Given the description of an element on the screen output the (x, y) to click on. 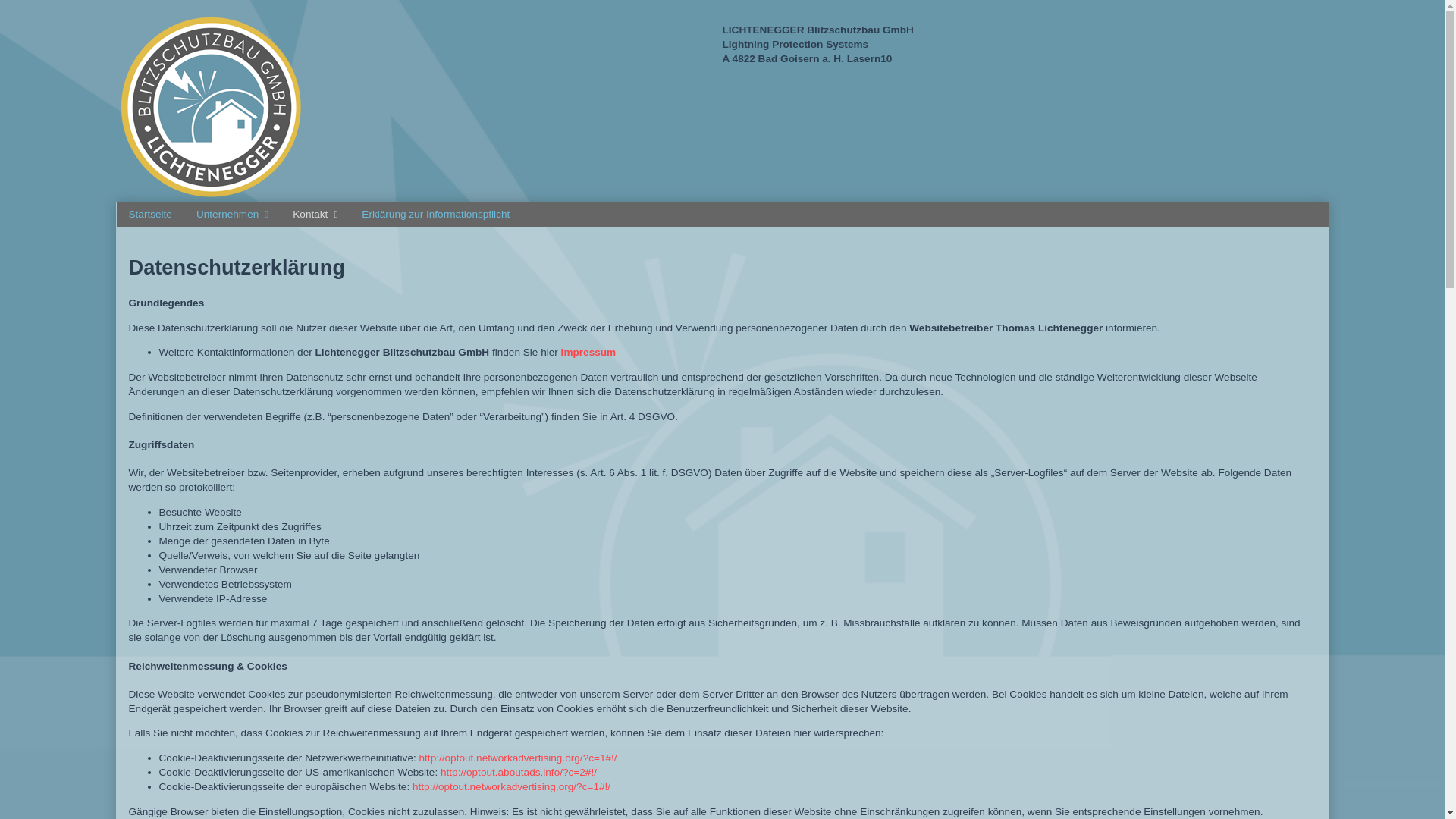
Impressum Element type: text (588, 351)
http://optout.networkadvertising.org/?c=1#!/ Element type: text (511, 786)
http://optout.networkadvertising.org/?c=1#!/ Element type: text (518, 757)
Skip to content Element type: text (11, 11)
Unternehmen Element type: text (232, 214)
http://optout.aboutads.info/?c=2#!/ Element type: text (518, 772)
Kontakt Element type: text (314, 214)
Startseite Element type: text (150, 214)
